Given the description of an element on the screen output the (x, y) to click on. 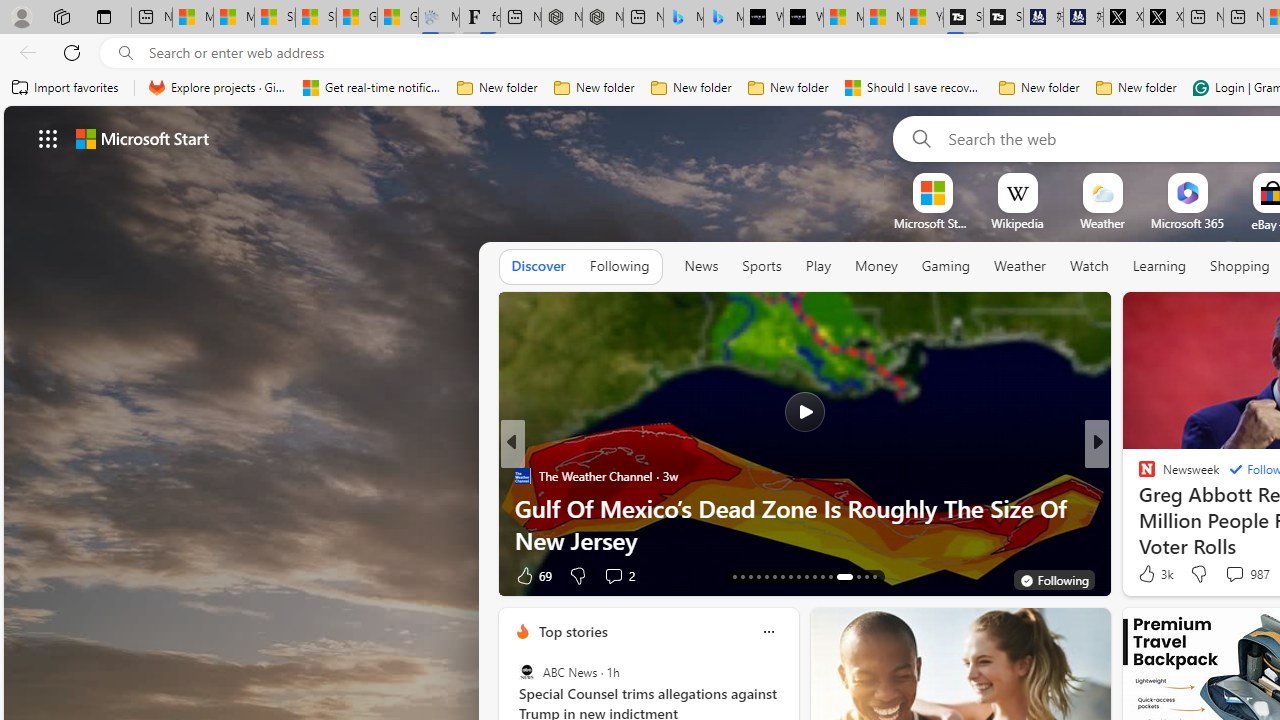
View comments 22 Comment (11, 575)
News (701, 265)
News (701, 267)
AutomationID: tab-26 (844, 576)
AutomationID: tab-17 (765, 576)
AutomationID: waffle (47, 138)
AutomationID: tab-29 (874, 576)
View comments 2 Comment (613, 575)
X (1163, 17)
AutomationID: tab-15 (750, 576)
View comments 85 Comment (1229, 575)
AutomationID: tab-24 (821, 576)
Discover (538, 265)
Following (619, 265)
